Given the description of an element on the screen output the (x, y) to click on. 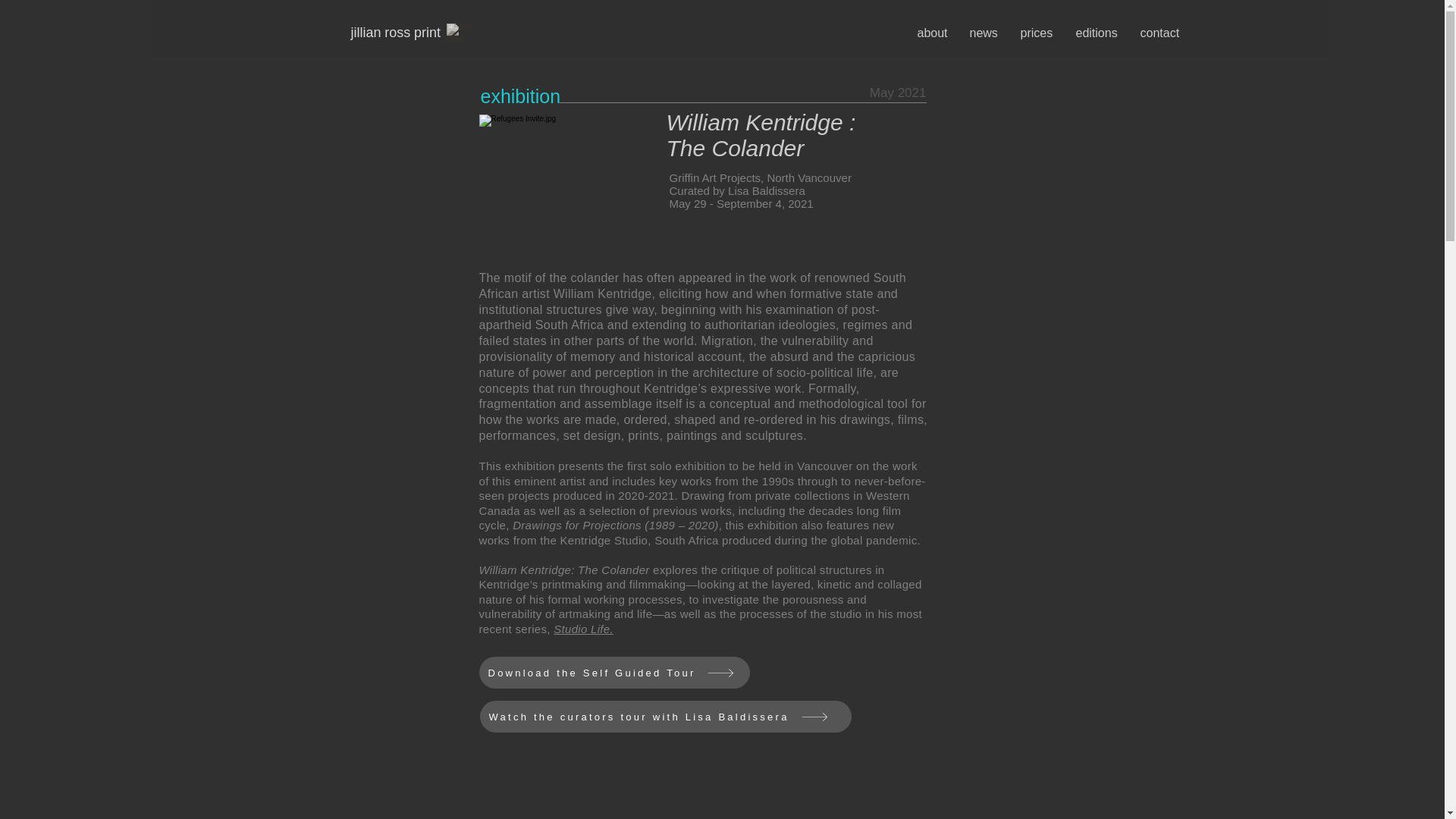
Studio Life. (582, 628)
contact (1158, 33)
editions (1096, 33)
jillian ross print (395, 32)
Download the Self Guided Tour (614, 672)
prices (1036, 33)
about (931, 33)
news (983, 33)
Watch the curators tour with Lisa Baldissera (664, 716)
